Given the description of an element on the screen output the (x, y) to click on. 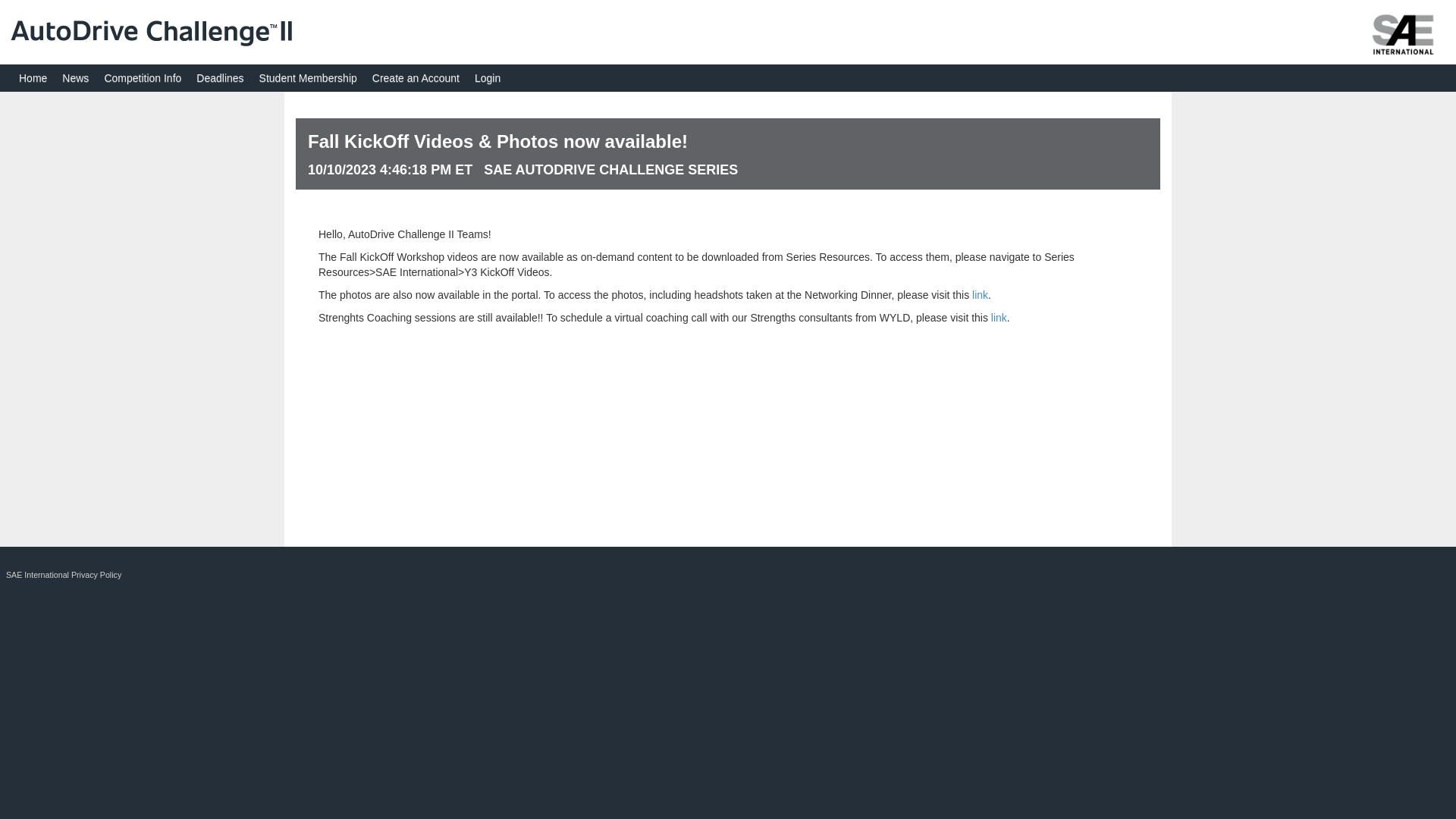
Login (487, 77)
Home (33, 77)
Create an Account (416, 77)
News (75, 77)
Student Membership (308, 77)
link (980, 295)
link (999, 317)
Deadlines (219, 77)
Competition Info (142, 77)
